Given the description of an element on the screen output the (x, y) to click on. 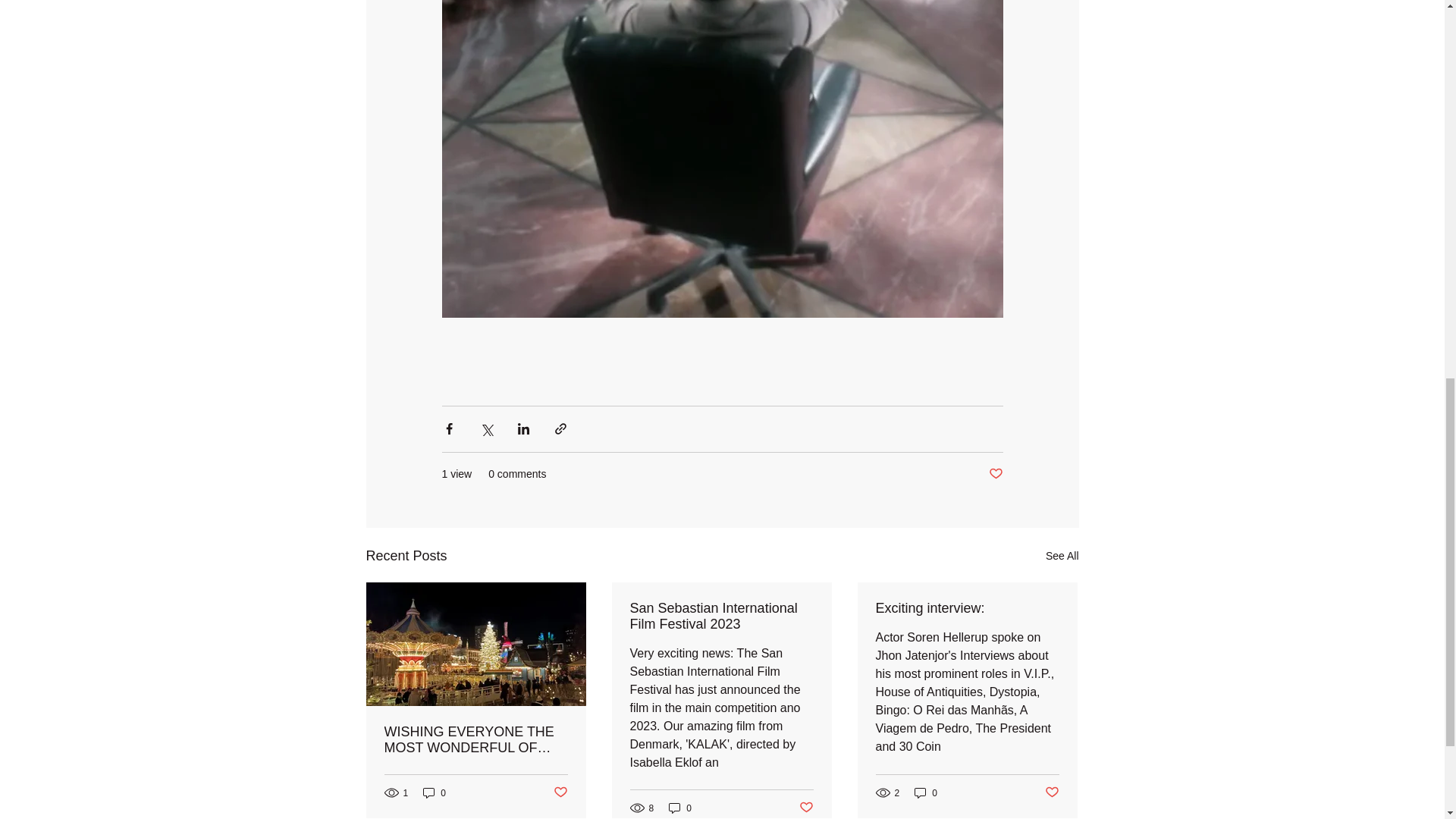
Exciting interview: (966, 608)
Post not marked as liked (560, 792)
0 (925, 792)
Post not marked as liked (995, 474)
See All (1061, 556)
San Sebastian International Film Festival 2023 (720, 616)
Post not marked as liked (806, 807)
Post not marked as liked (1052, 792)
0 (679, 807)
